Given the description of an element on the screen output the (x, y) to click on. 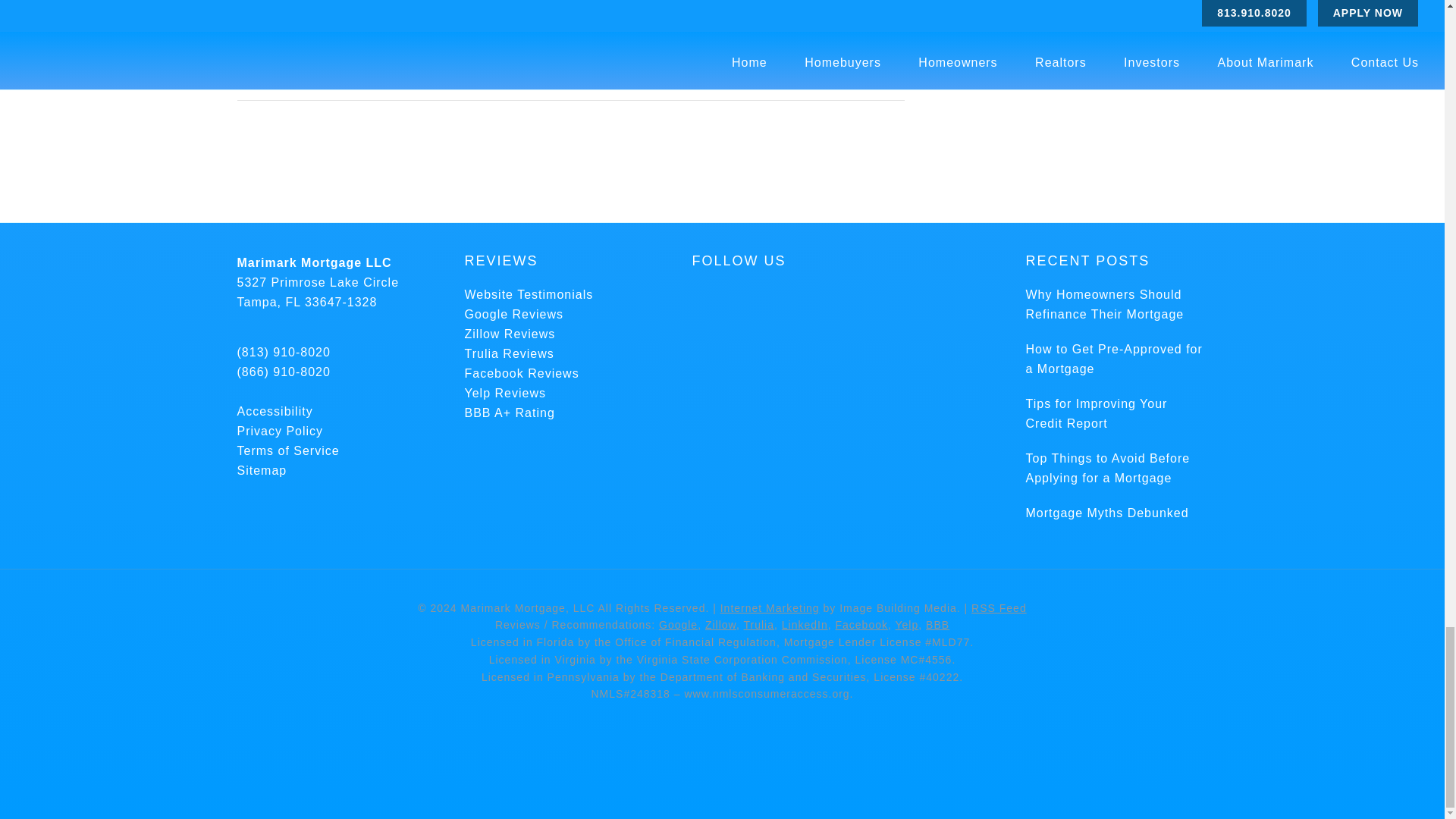
Zillow Reviews of Marimark Mortgage (509, 333)
Terms of Service (287, 450)
Call Us (282, 351)
Sitemap (260, 470)
Privacy Policy (279, 431)
Facebook Reviews of Marimark Mortgage (521, 373)
Trullia Reviews Mary Catchur (508, 353)
Call Us (282, 371)
Google Reviews of Marimark Mortgage (513, 314)
Testimonials (528, 294)
Accessibility (274, 410)
